Given the description of an element on the screen output the (x, y) to click on. 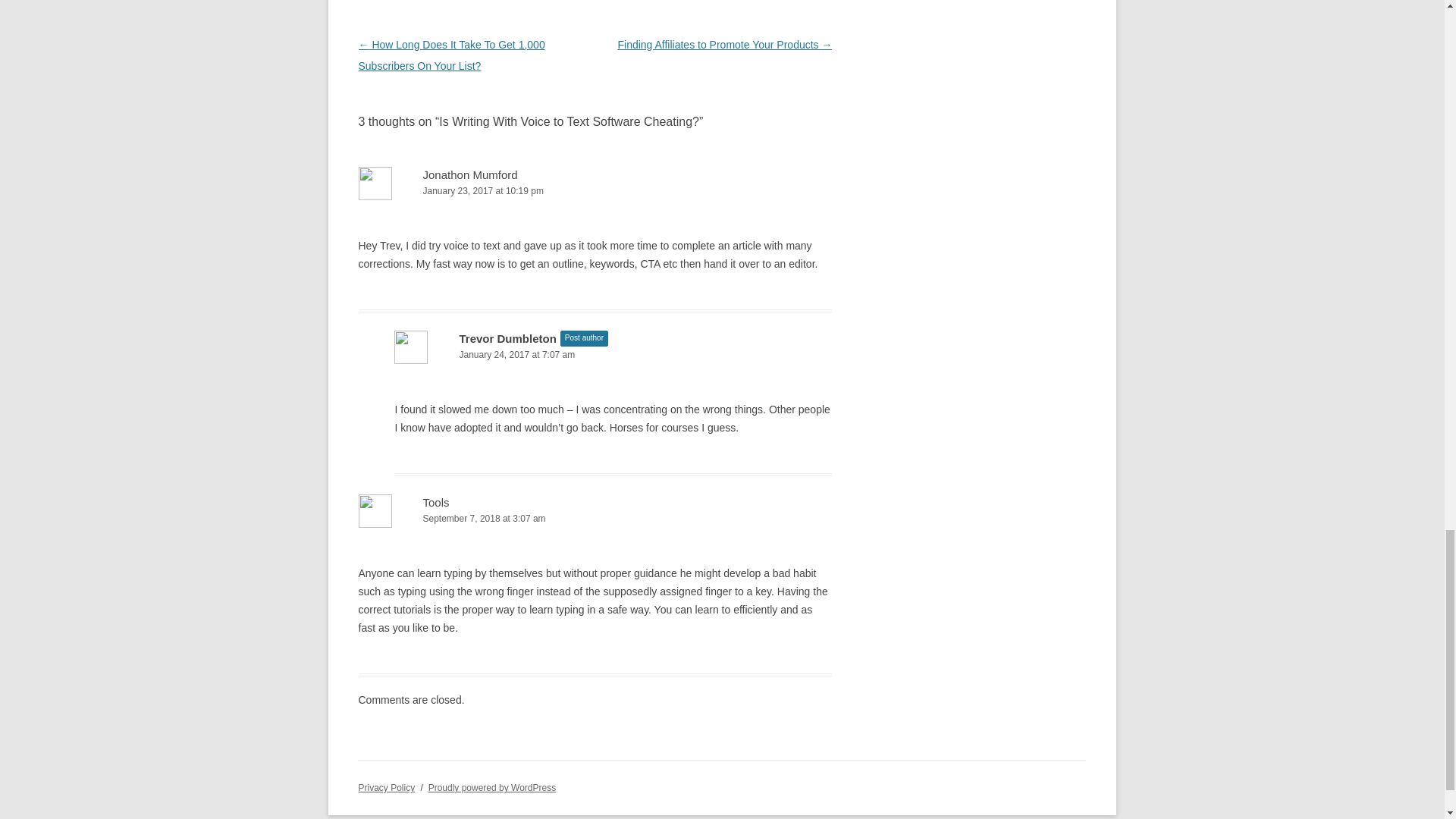
January 24, 2017 at 7:07 am (612, 355)
January 23, 2017 at 10:19 pm (594, 191)
Semantic Personal Publishing Platform (492, 787)
September 7, 2018 at 3:07 am (594, 519)
